Given the description of an element on the screen output the (x, y) to click on. 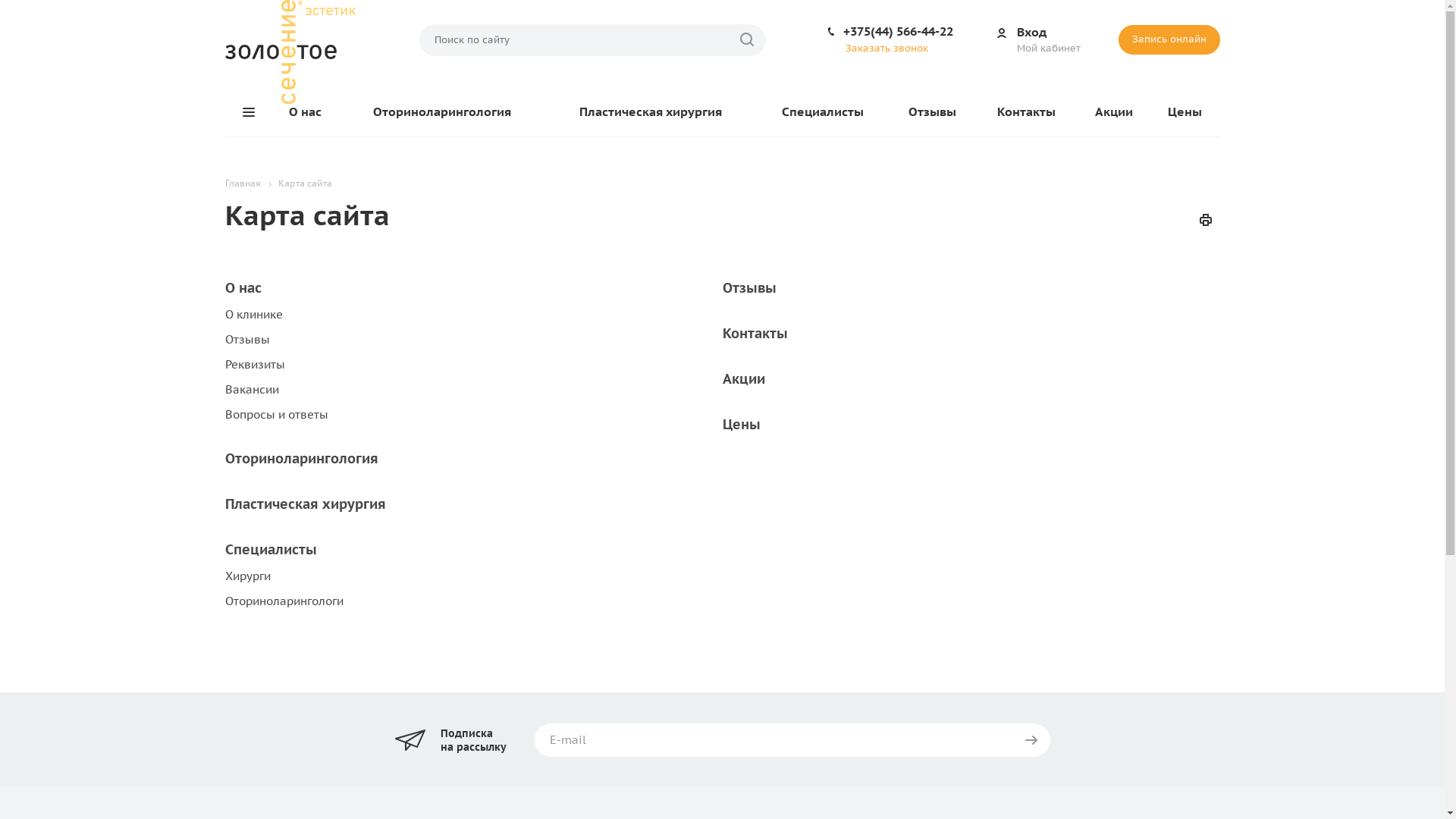
LOR Element type: hover (289, 51)
+375(44) 566-44-22 Element type: text (898, 30)
